Given the description of an element on the screen output the (x, y) to click on. 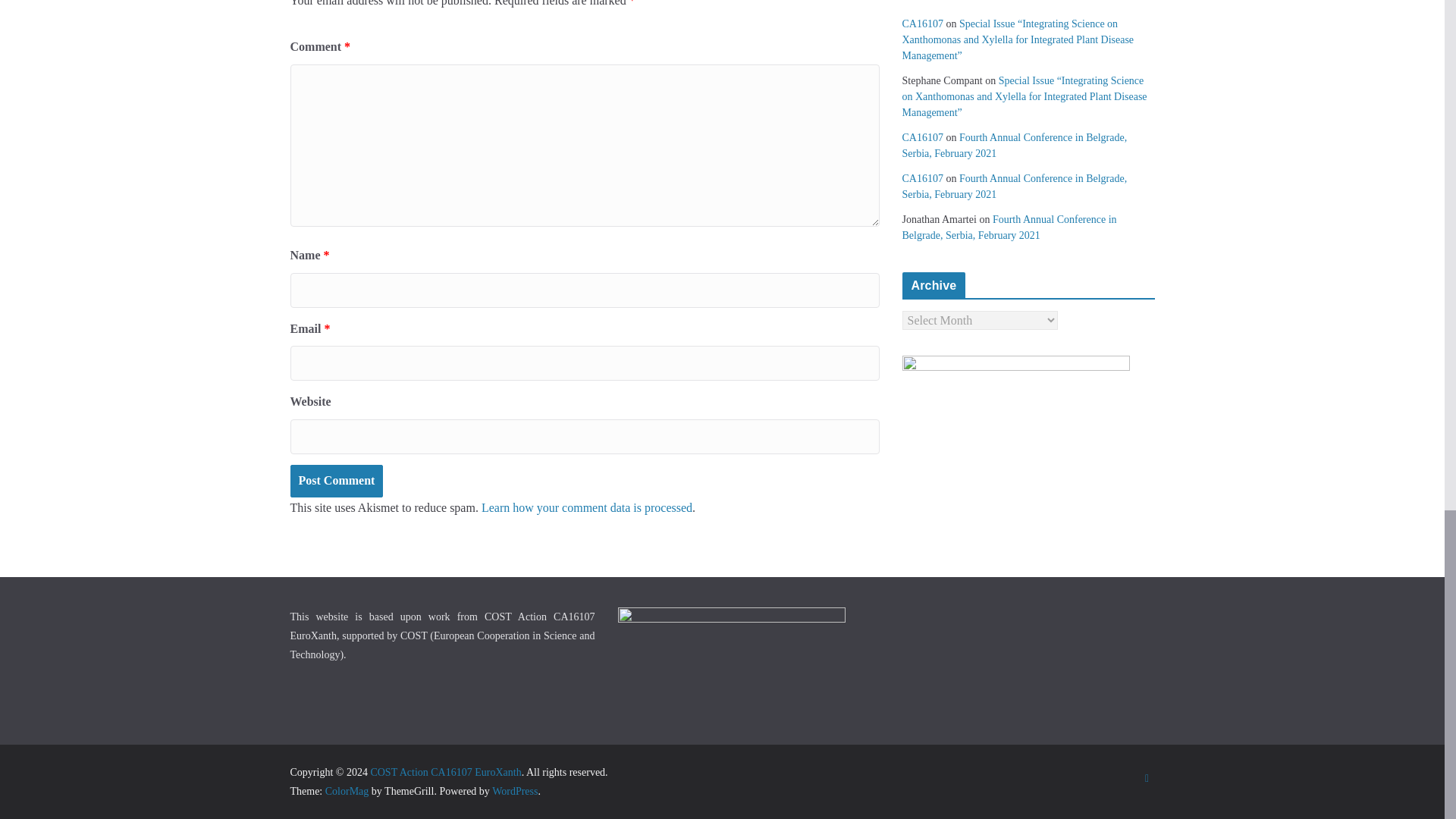
WordPress (514, 790)
COST Action CA16107 EuroXanth (445, 772)
ColorMag (346, 790)
Post Comment (335, 481)
